Given the description of an element on the screen output the (x, y) to click on. 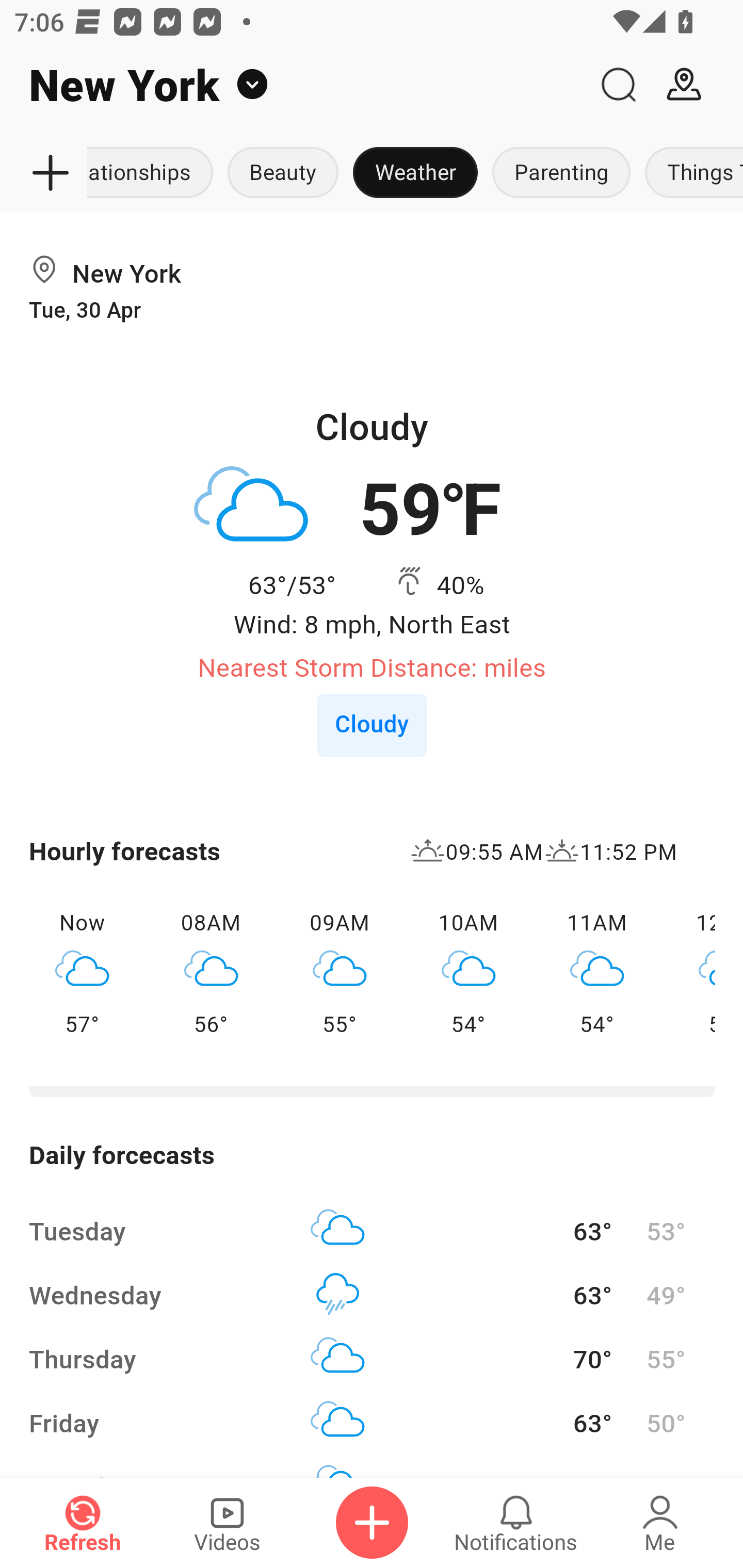
New York (292, 84)
Relationships (153, 172)
Beauty (282, 172)
Weather (415, 172)
Parenting (561, 172)
Things To Do (690, 172)
Videos (227, 1522)
Notifications (516, 1522)
Me (659, 1522)
